Given the description of an element on the screen output the (x, y) to click on. 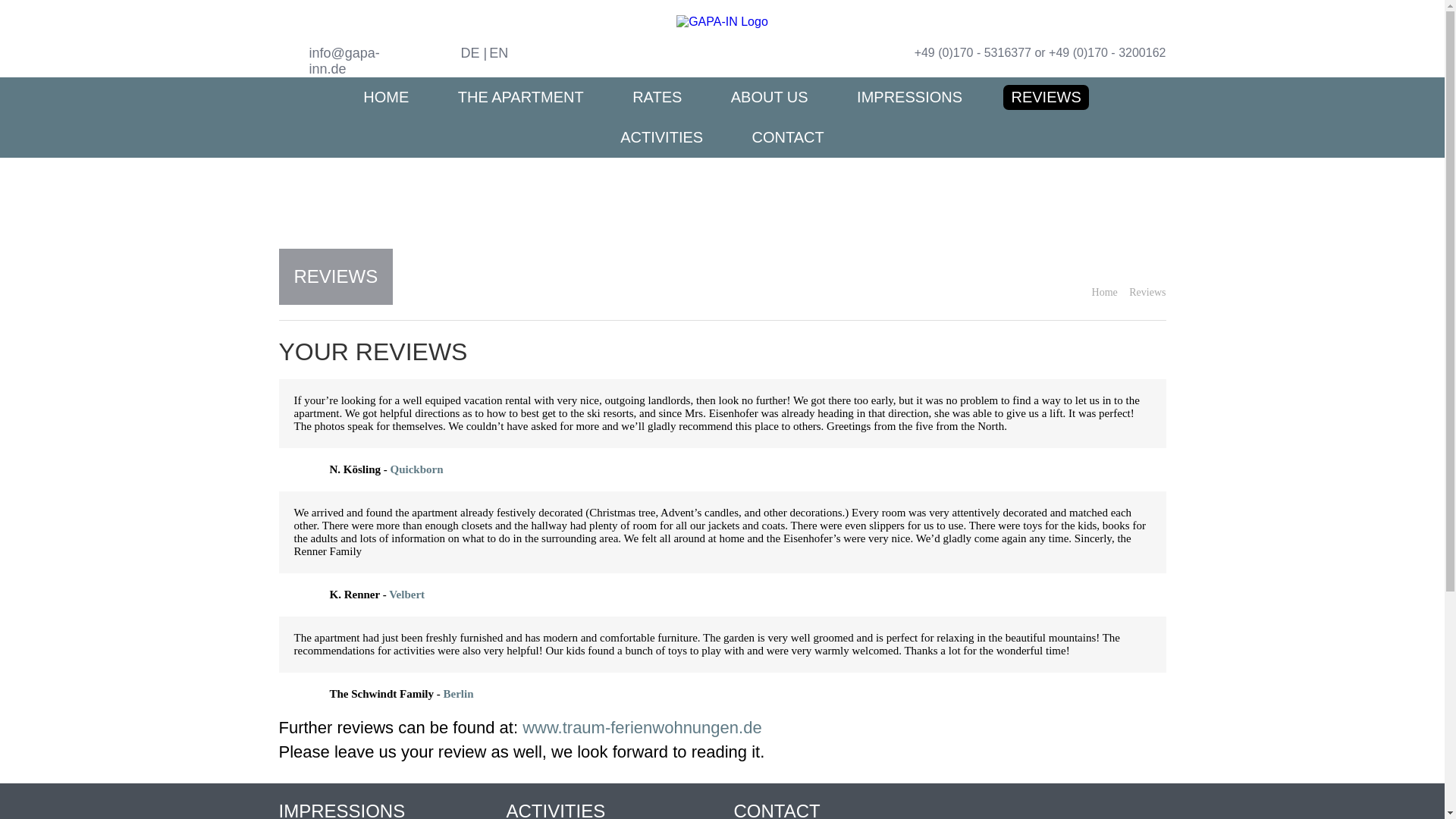
HOME (385, 97)
www.traum-ferienwohnungen.de (641, 727)
EN (497, 53)
RATES (656, 97)
Berlin (459, 693)
CONTACT (787, 137)
Quickborn (417, 469)
Home (1109, 292)
IMPRESSIONS (908, 97)
ACTIVITIES (661, 137)
